Given the description of an element on the screen output the (x, y) to click on. 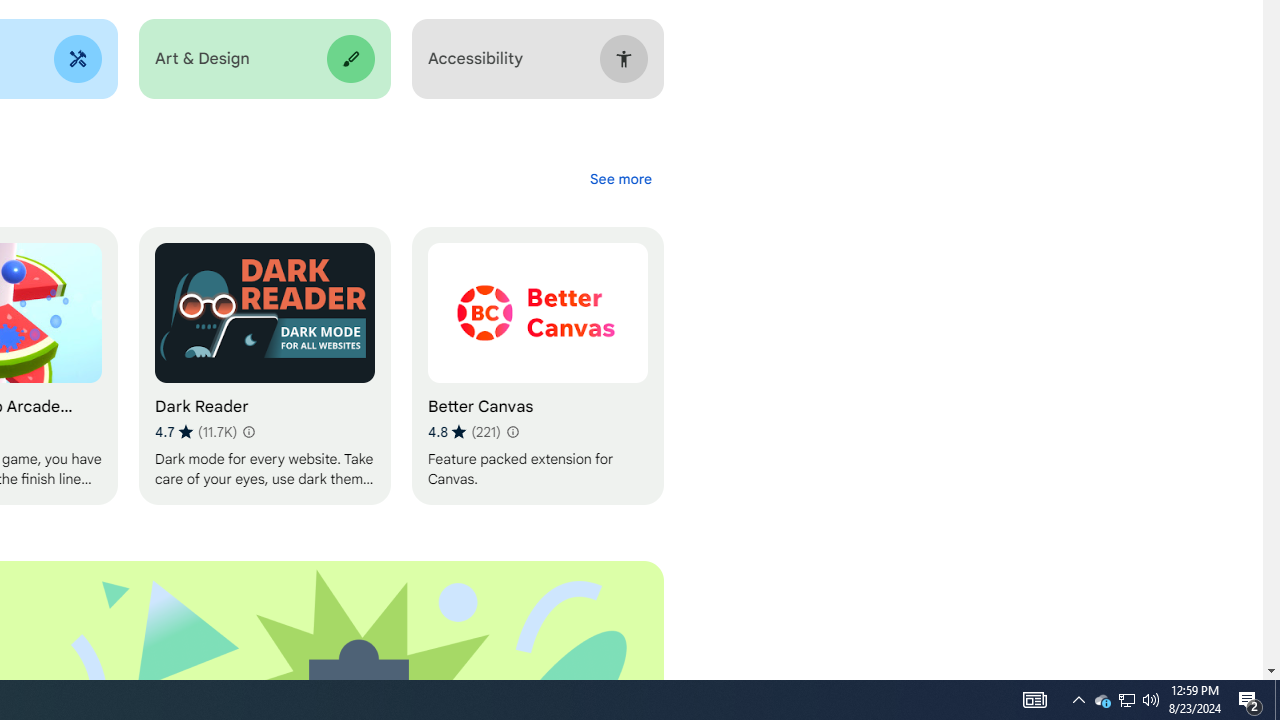
Average rating 4.8 out of 5 stars. 221 ratings. (463, 431)
See more personalized recommendations (620, 178)
Better Canvas (537, 366)
Learn more about results and reviews "Dark Reader" (247, 431)
Accessibility (537, 59)
Average rating 4.7 out of 5 stars. 11.7K ratings. (195, 431)
Learn more about results and reviews "Better Canvas" (511, 431)
Art & Design (264, 59)
Dark Reader (264, 366)
